Given the description of an element on the screen output the (x, y) to click on. 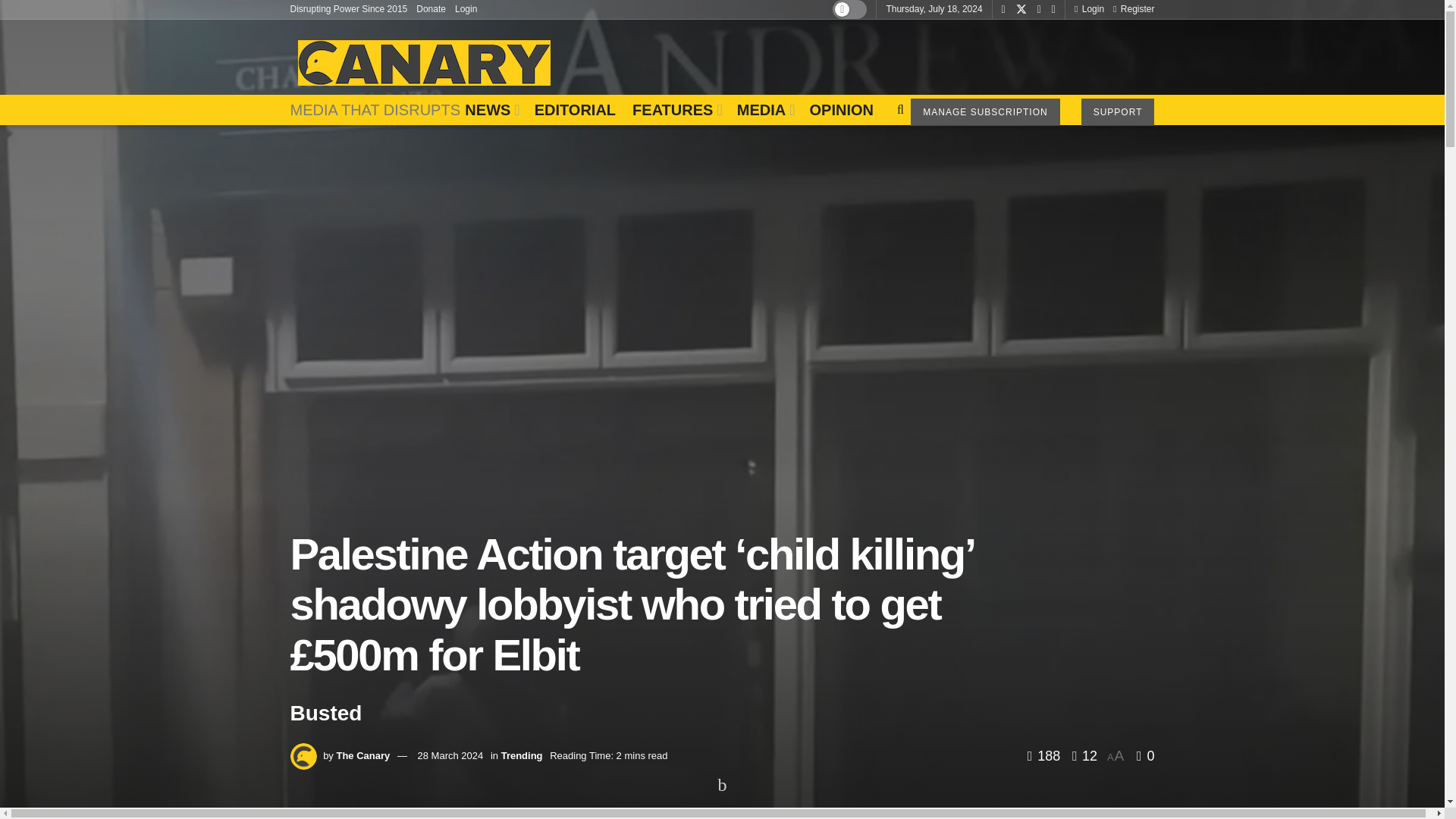
Disrupting Power Since 2015 (348, 9)
MEDIA (764, 110)
Register (1133, 9)
MANAGE SUBSCRIPTION (985, 112)
Login (1088, 9)
Login (465, 9)
FEATURES (675, 110)
EDITORIAL (574, 110)
OPINION (840, 110)
NEWS (490, 110)
Donate (430, 9)
SUPPORT (1117, 112)
Advertisement (878, 53)
